Given the description of an element on the screen output the (x, y) to click on. 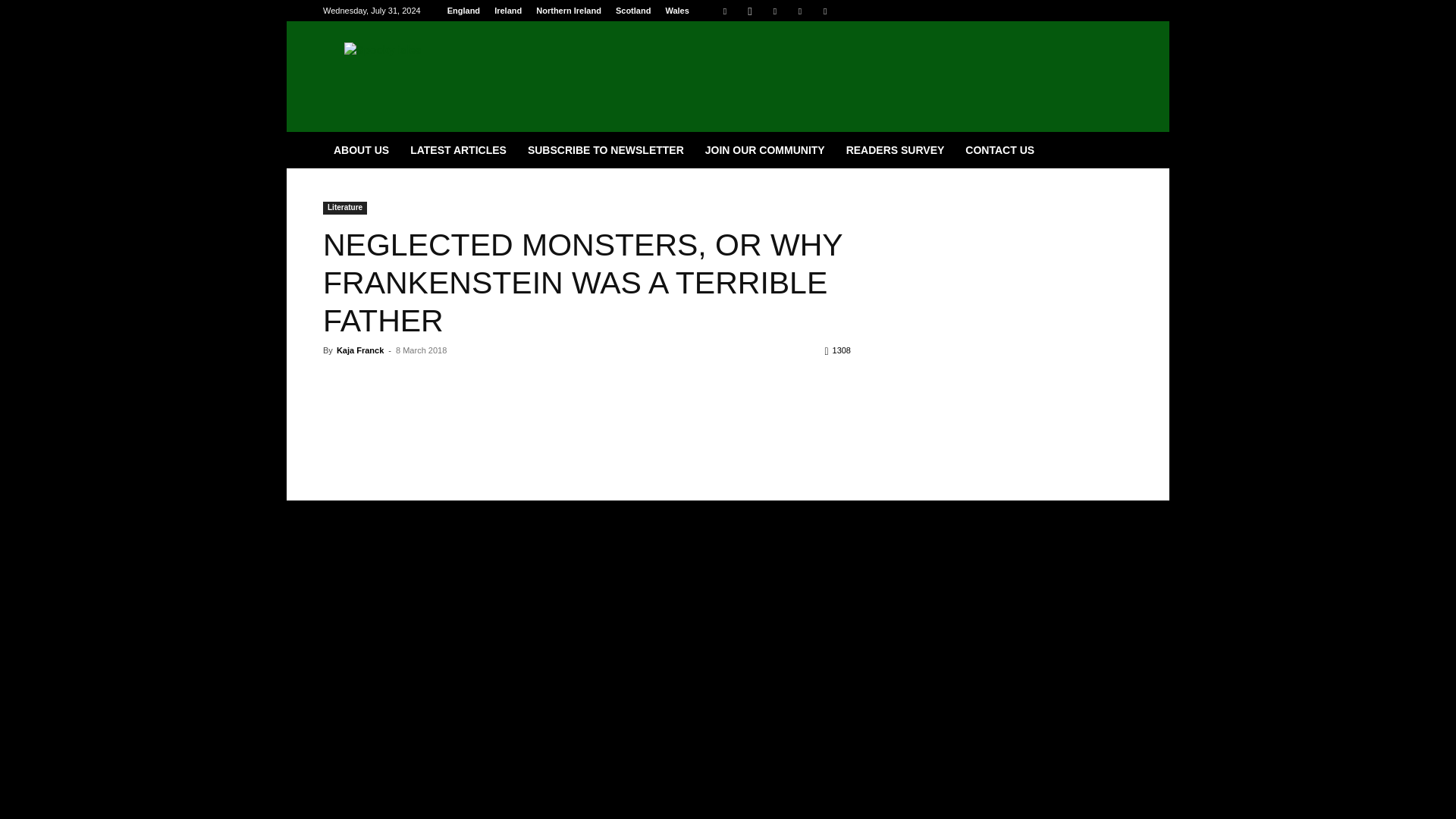
Twitter (799, 10)
Youtube (824, 10)
Spooky Isles (451, 76)
England (463, 10)
Instagram (749, 10)
Facebook (724, 10)
Pinterest (774, 10)
